Given the description of an element on the screen output the (x, y) to click on. 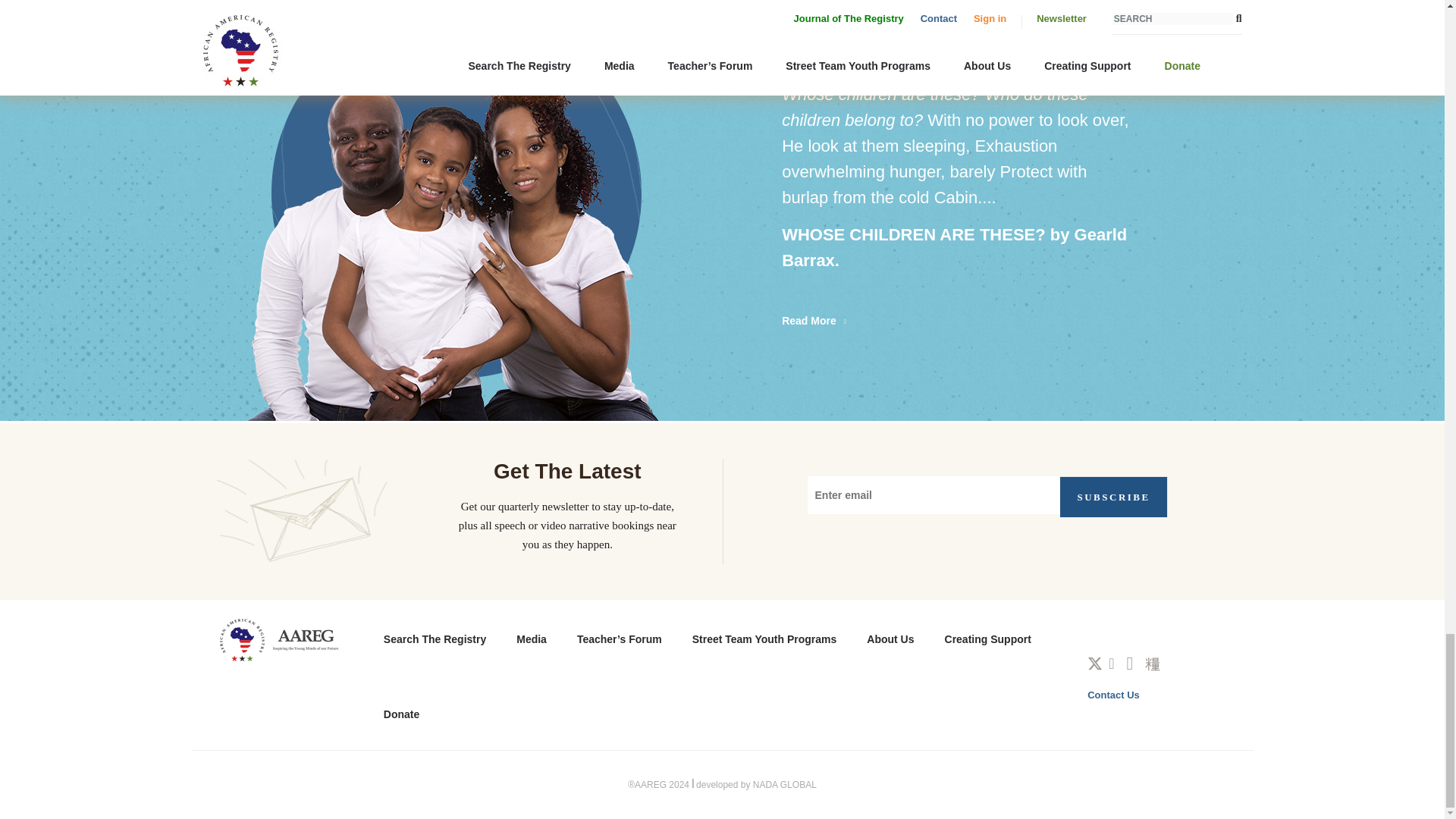
Subscribe (1114, 496)
